Given the description of an element on the screen output the (x, y) to click on. 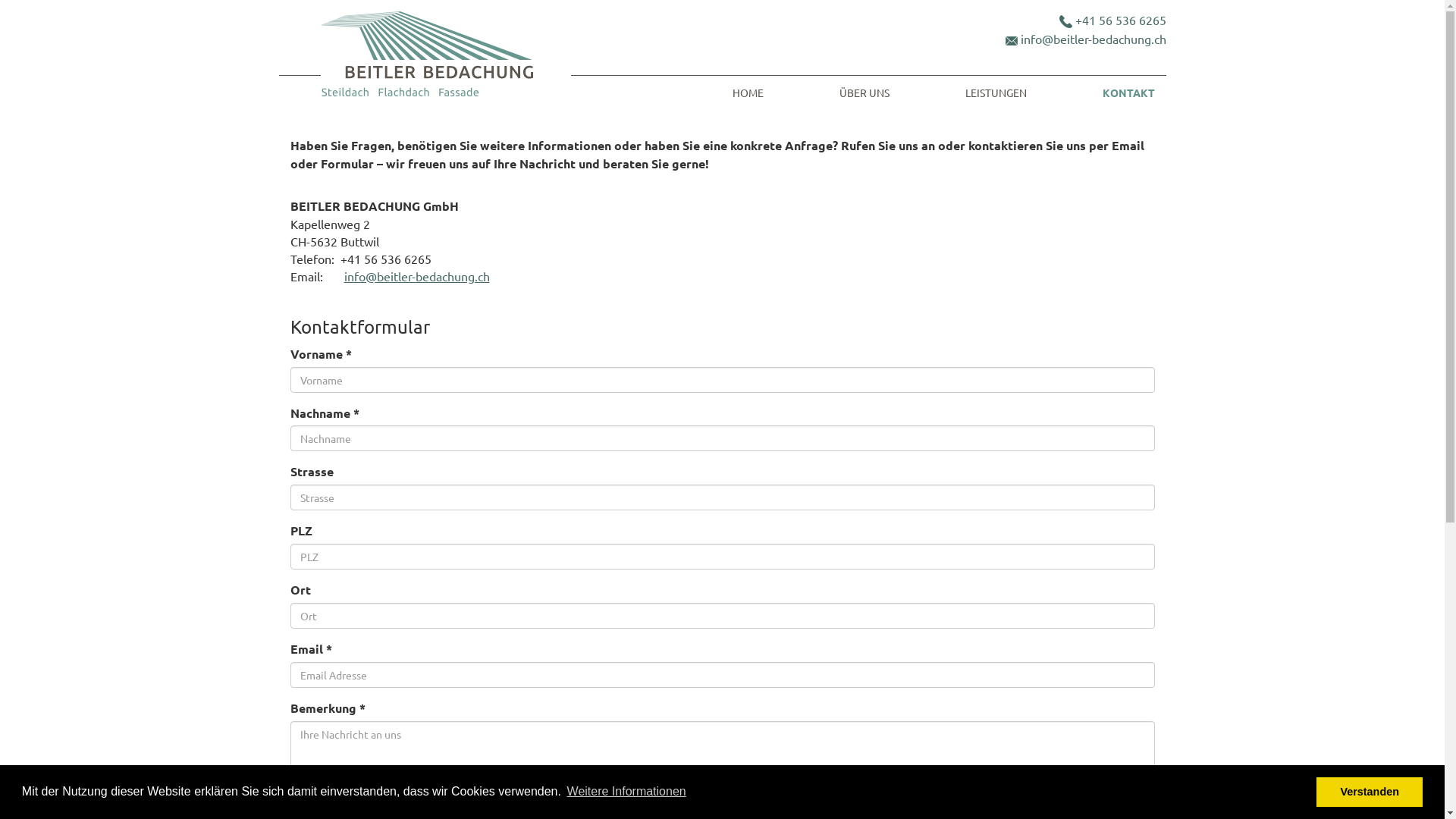
Home Element type: text (747, 90)
Verstanden Element type: text (1369, 791)
Leistungen Element type: text (995, 90)
Weitere Informationen Element type: text (626, 791)
info@beitler-bedachung.ch Element type: text (416, 275)
+41 56 536 6265 Element type: text (1120, 19)
Kontakt Element type: text (1127, 90)
info@beitler-bedachung.ch Element type: text (1093, 38)
